Given the description of an element on the screen output the (x, y) to click on. 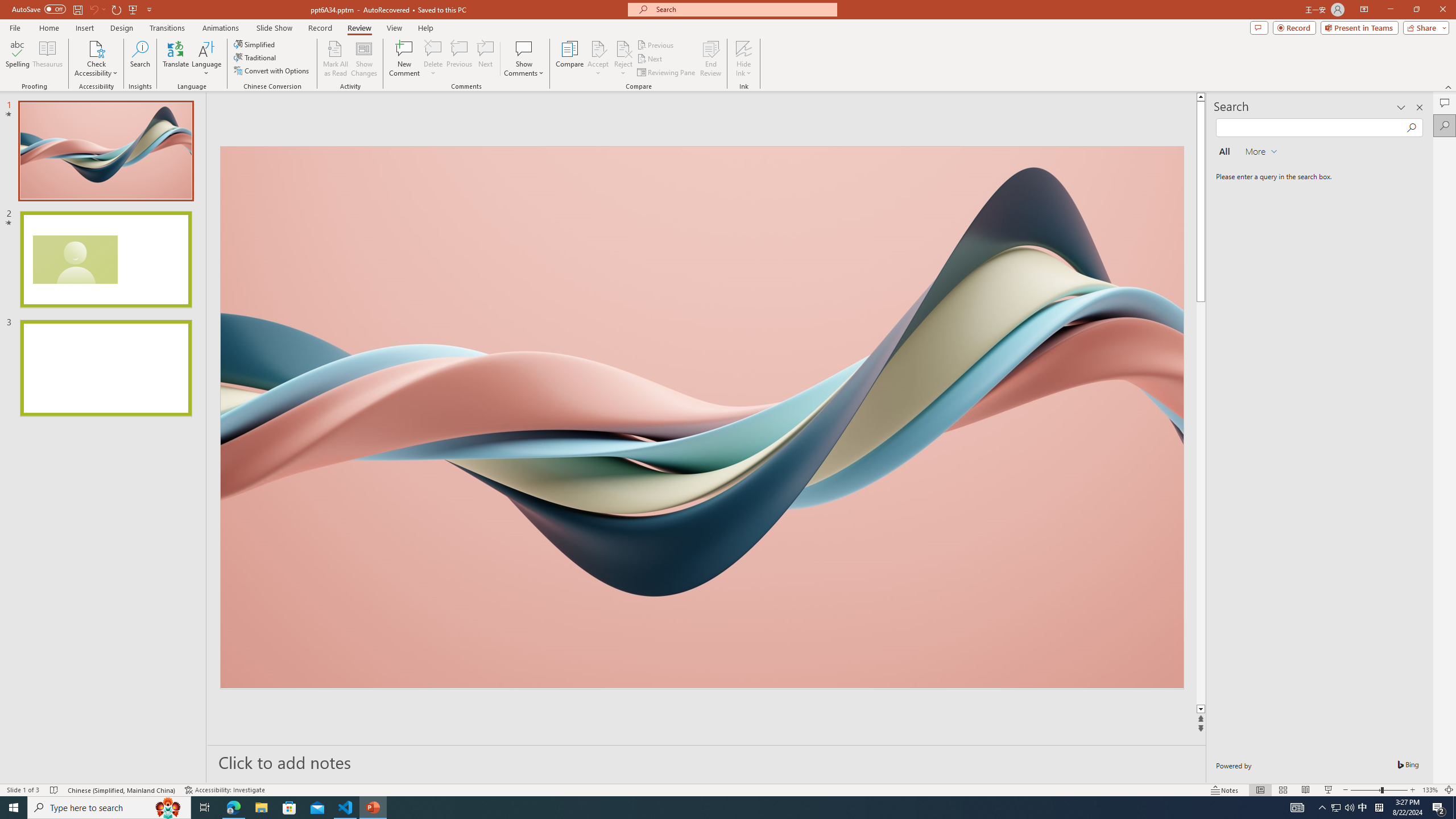
End Review (710, 58)
Mark All as Read (335, 58)
Thesaurus... (47, 58)
Zoom 133% (1430, 790)
Next (649, 58)
New Comment (403, 58)
Convert with Options... (272, 69)
Reject Change (622, 48)
